Given the description of an element on the screen output the (x, y) to click on. 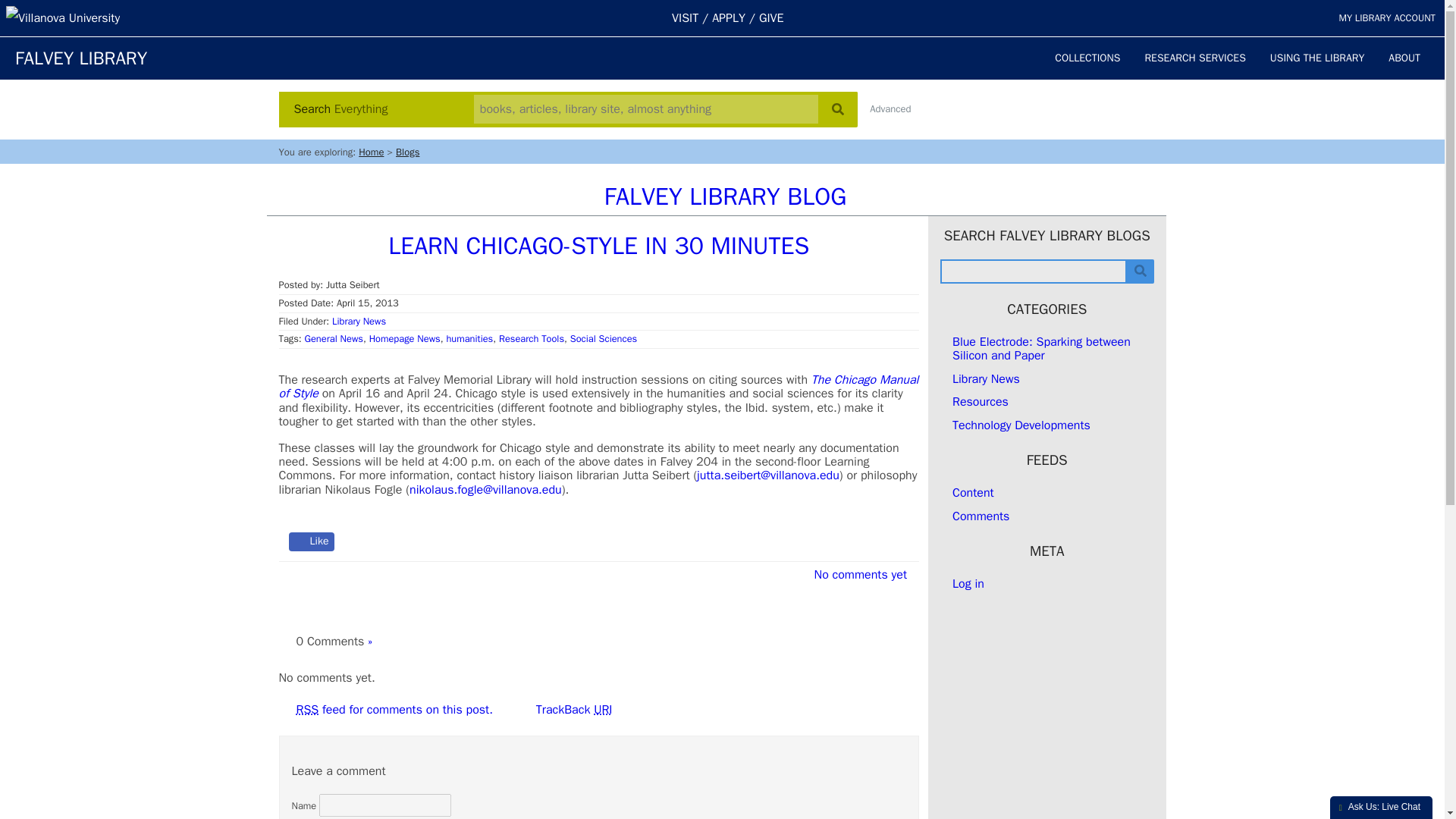
FALVEY LIBRARY (80, 57)
General News (333, 338)
Technology Developments (1021, 424)
VISIT (684, 17)
MY LIBRARY ACCOUNT (1386, 18)
Blogs (407, 151)
Syndicate this site using RSS (973, 492)
Home (371, 151)
Social Sciences (603, 338)
Log in (968, 583)
